Given the description of an element on the screen output the (x, y) to click on. 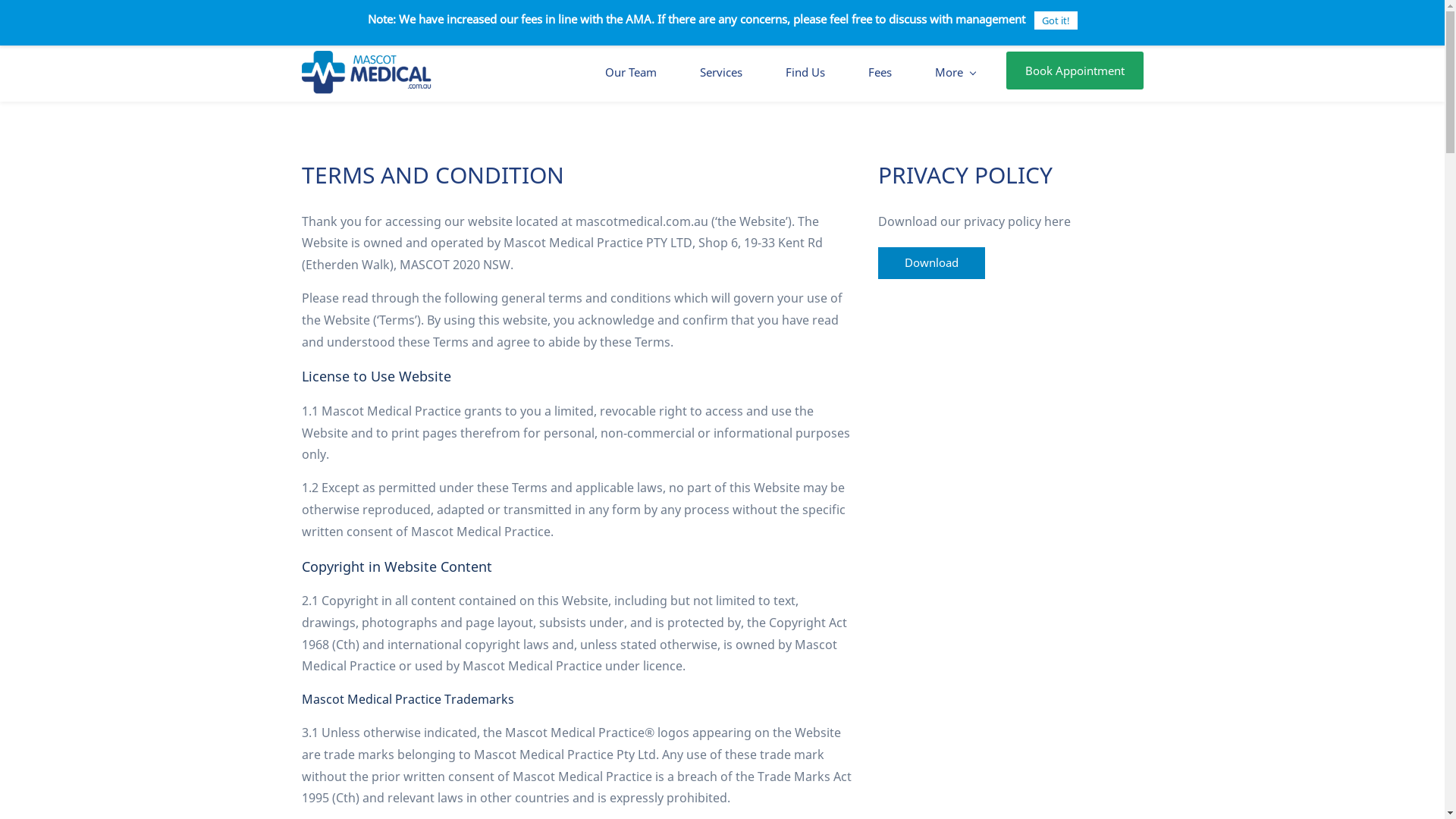
Find Us Element type: text (805, 72)
Services Element type: text (720, 72)
More Element type: text (954, 72)
Download Element type: text (931, 262)
Got it! Element type: text (1055, 20)
info@mascotmedical.com.au Element type: text (398, 21)
02 8668 0066 Element type: text (565, 21)
Our Team Element type: text (630, 72)
Fees Element type: text (879, 72)
Book Appointment Element type: text (1073, 70)
